Given the description of an element on the screen output the (x, y) to click on. 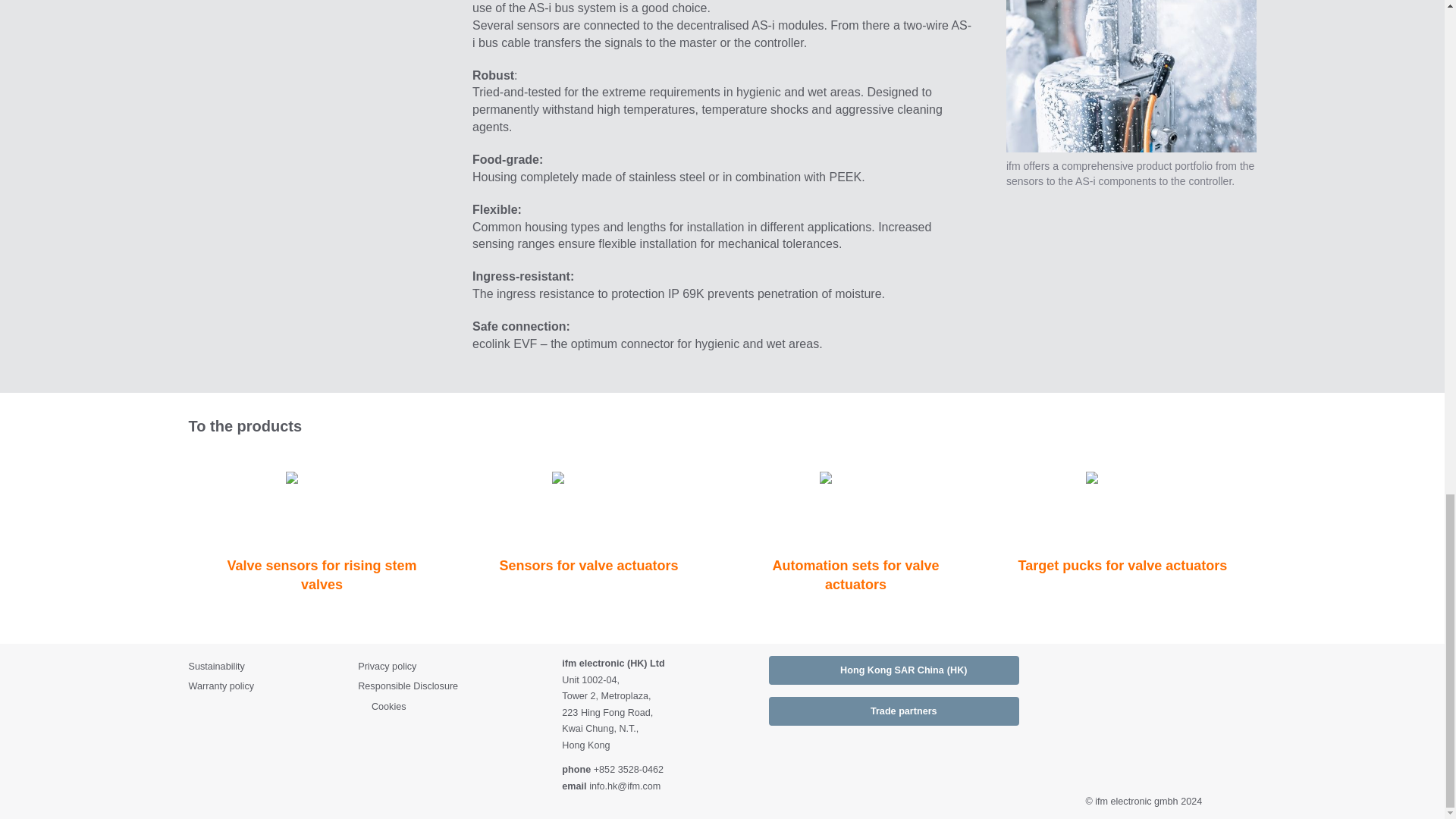
Sensors for valve actuators (588, 517)
Automation sets for valve actuators (854, 527)
Valve sensors for rising stem valves (321, 527)
Target pucks for valve actuators (1122, 517)
